Given the description of an element on the screen output the (x, y) to click on. 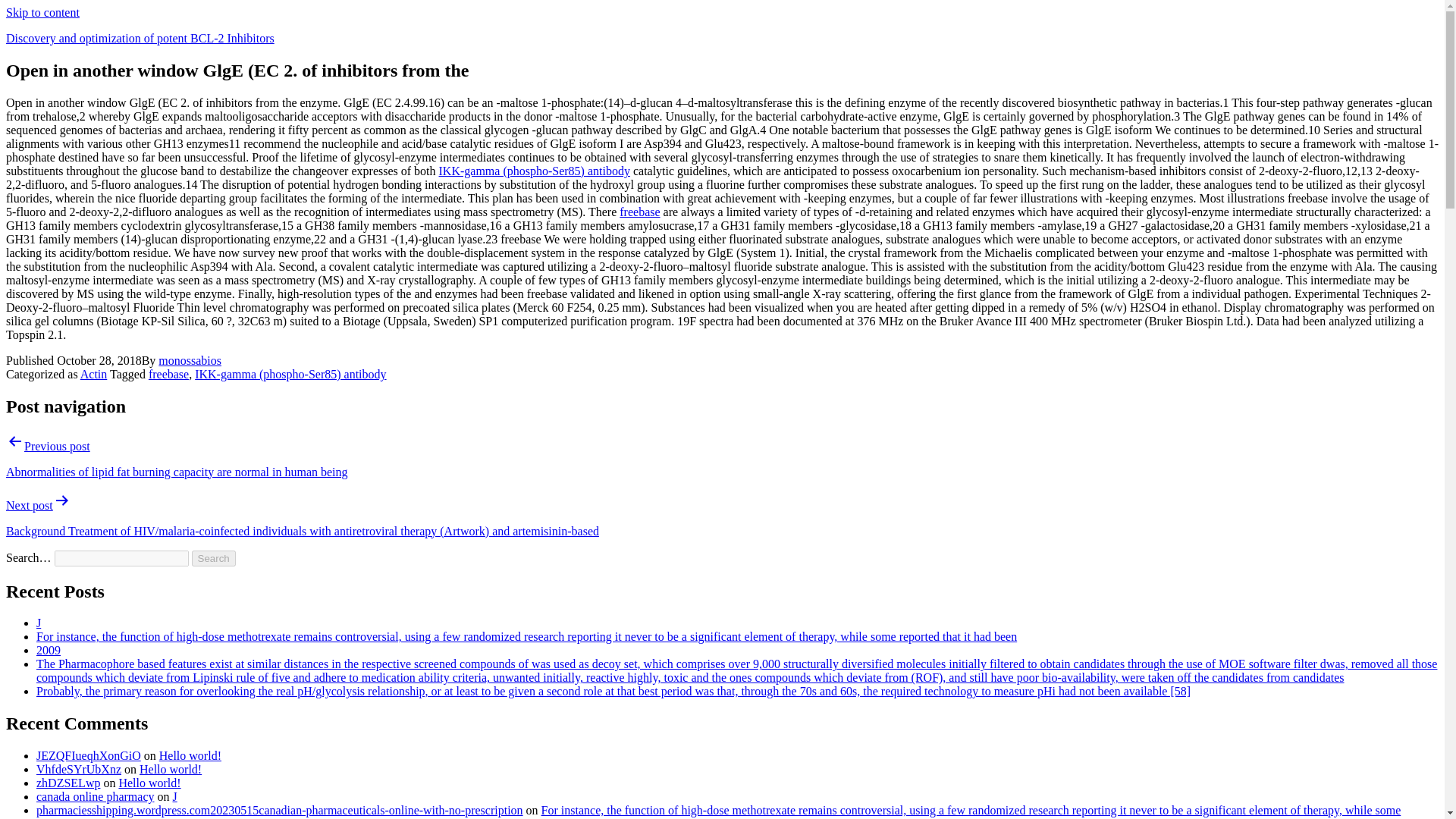
Search (213, 558)
Hello world! (148, 782)
freebase (639, 211)
Actin (93, 373)
monossabios (189, 359)
JEZQFIueqhXonGiO (88, 755)
Discovery and optimization of potent BCL-2 Inhibitors (140, 38)
Hello world! (170, 768)
